Given the description of an element on the screen output the (x, y) to click on. 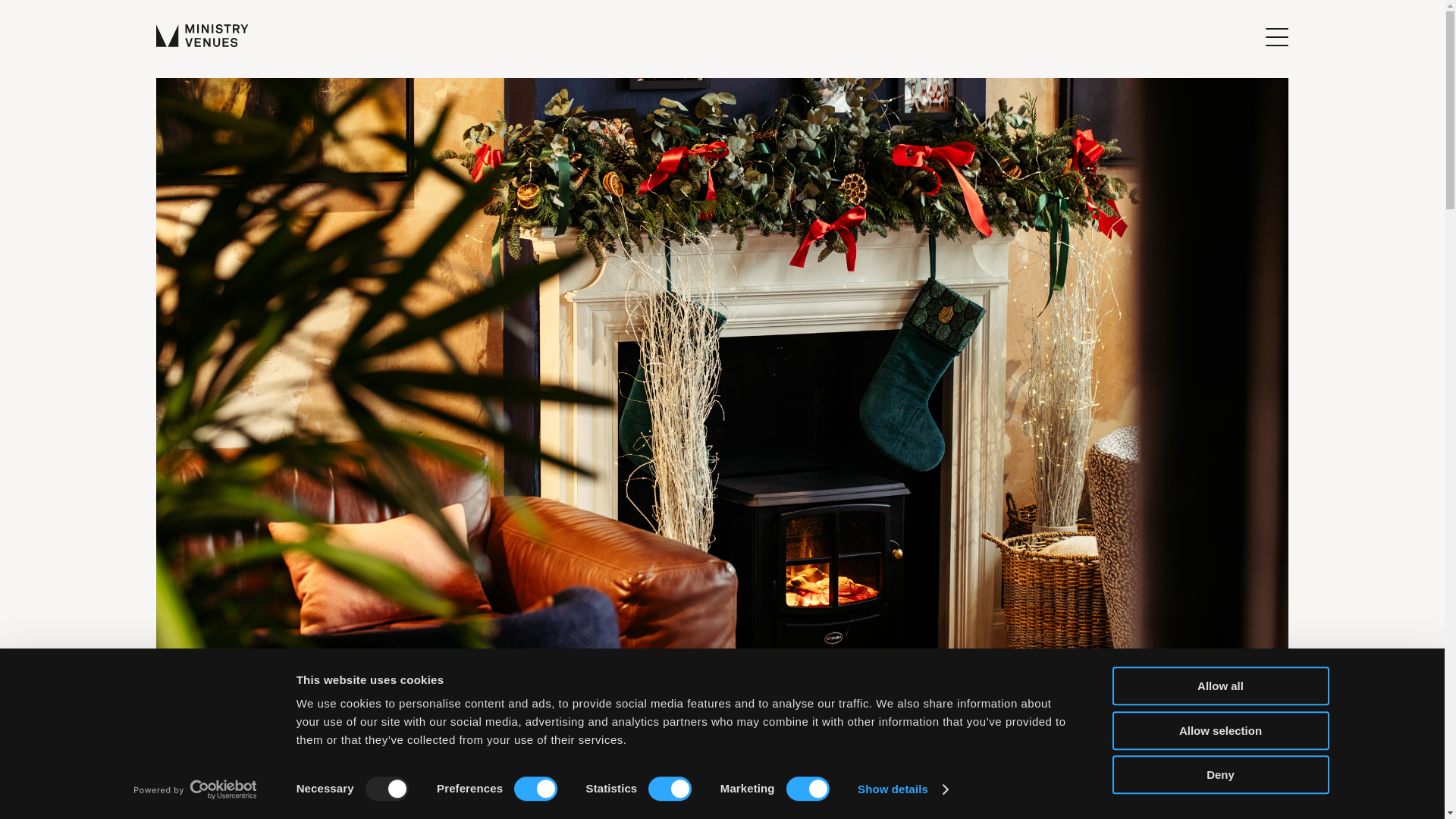
Show details (902, 789)
